Given the description of an element on the screen output the (x, y) to click on. 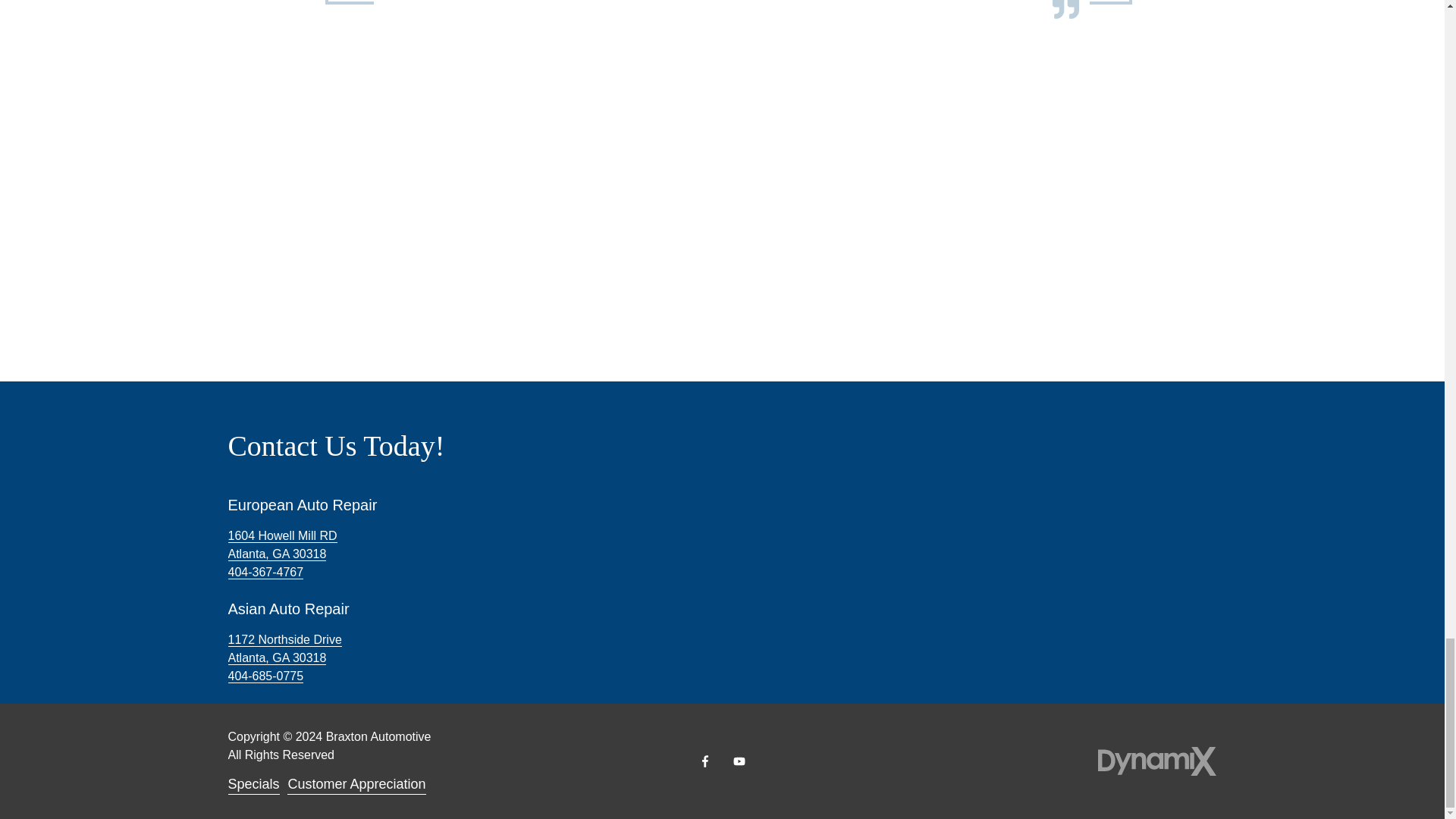
Facebook (705, 761)
YouTube (738, 761)
